Given the description of an element on the screen output the (x, y) to click on. 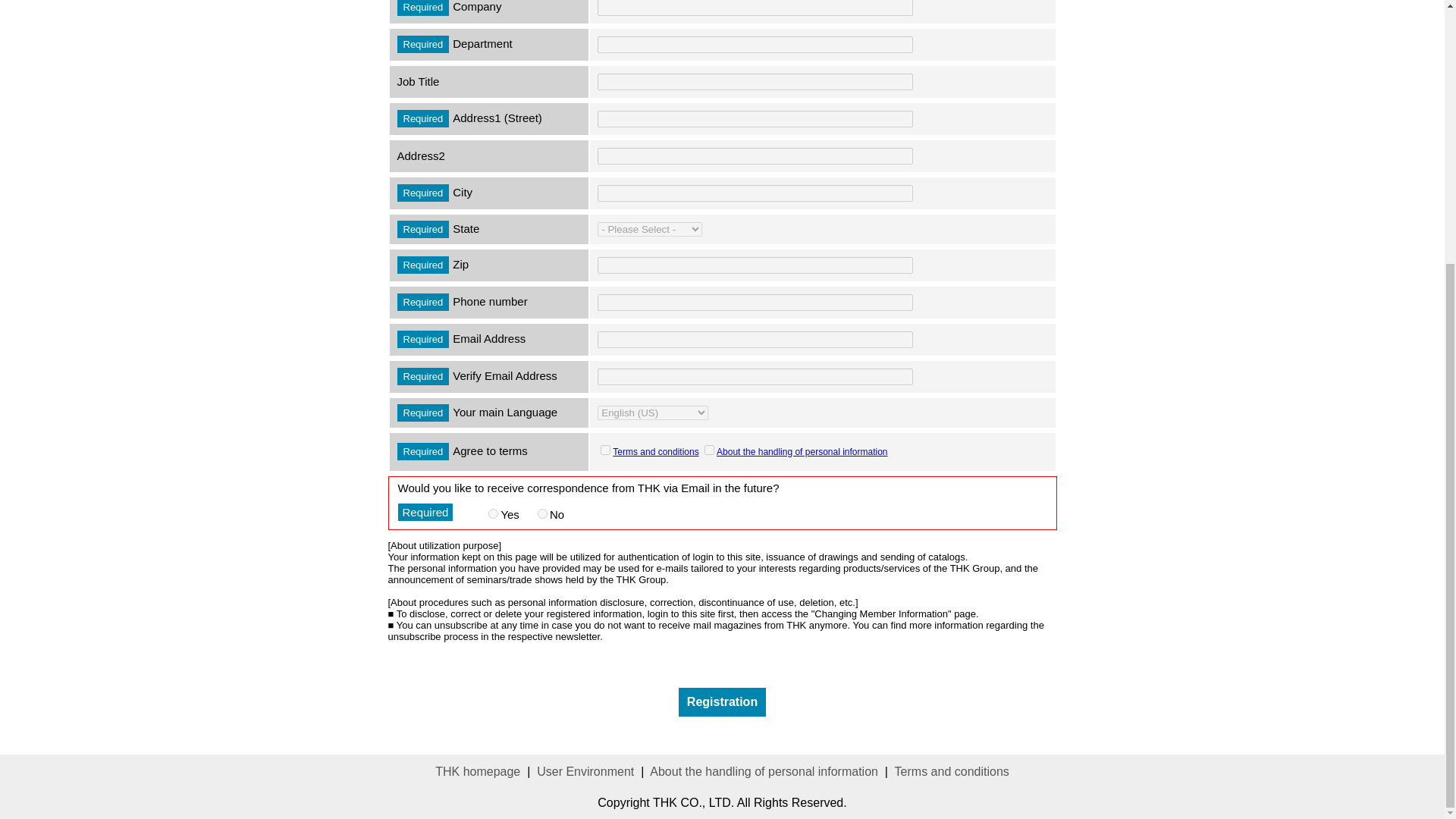
Terms and conditions (655, 450)
THK homepage (477, 770)
Terms and conditions (952, 770)
on (604, 449)
 Registration  (721, 701)
on (709, 449)
About the handling of personal information (763, 770)
2 (542, 512)
1 (492, 512)
User Environment (585, 770)
